Given the description of an element on the screen output the (x, y) to click on. 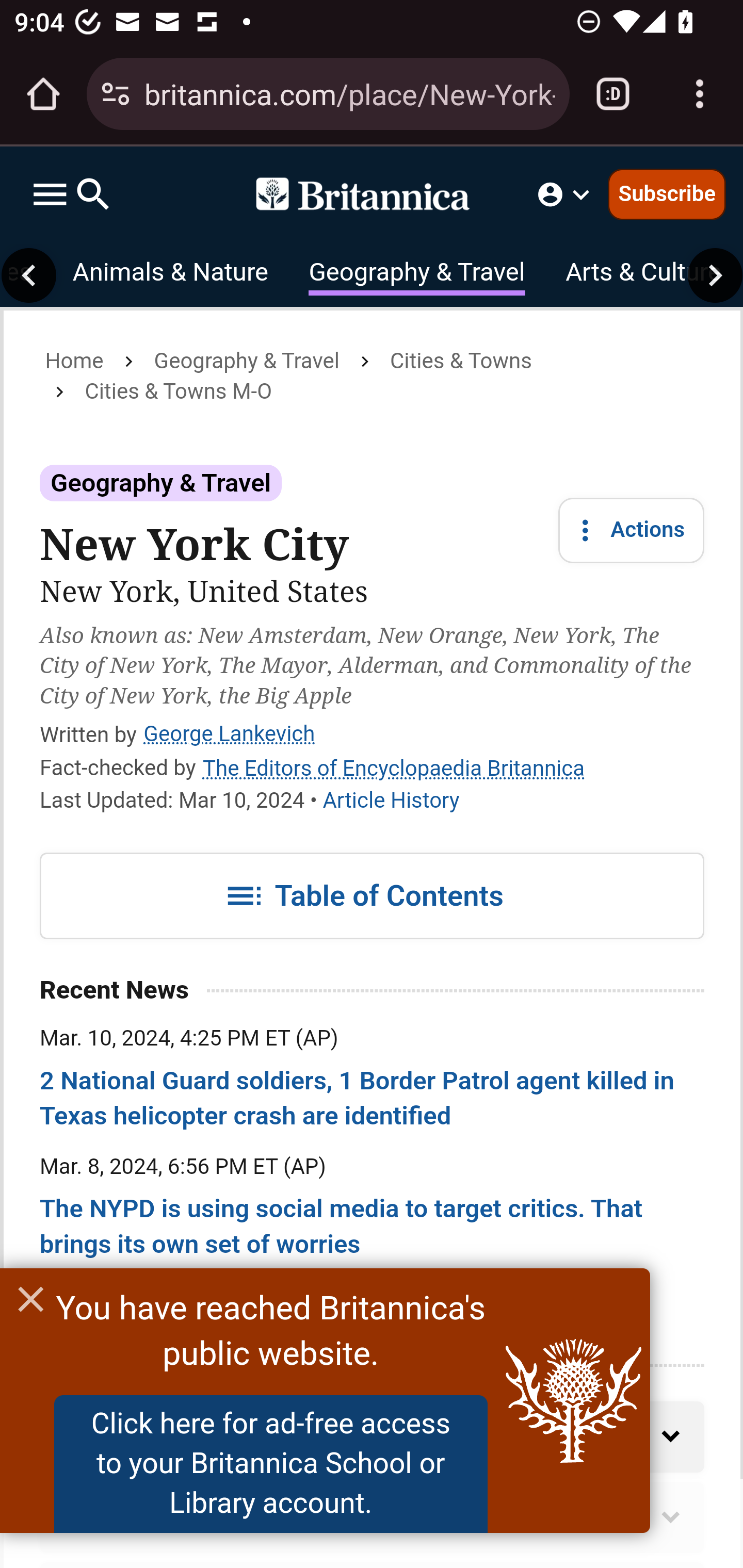
Open the home page (43, 93)
Connection is secure (115, 93)
Switch or close tabs (612, 93)
Customize and control Google Chrome (699, 93)
britannica.com/place/New-York-City (349, 92)
menu search (71, 194)
account_circle keyboard_arrow_down (565, 194)
Subscribe (667, 193)
Encyclopedia Britannica (371, 194)
Previous (28, 275)
Next (714, 275)
Animals & Nature (170, 275)
Geography & Travel (415, 275)
Arts & Culture (643, 275)
Home (73, 361)
Geography & Travel (247, 361)
Cities & Towns (459, 361)
Cities & Towns M-O (177, 390)
Geography & Travel (161, 482)
more_vert Actions (631, 529)
Article History (390, 800)
toc Table of Contents (372, 895)
